Given the description of an element on the screen output the (x, y) to click on. 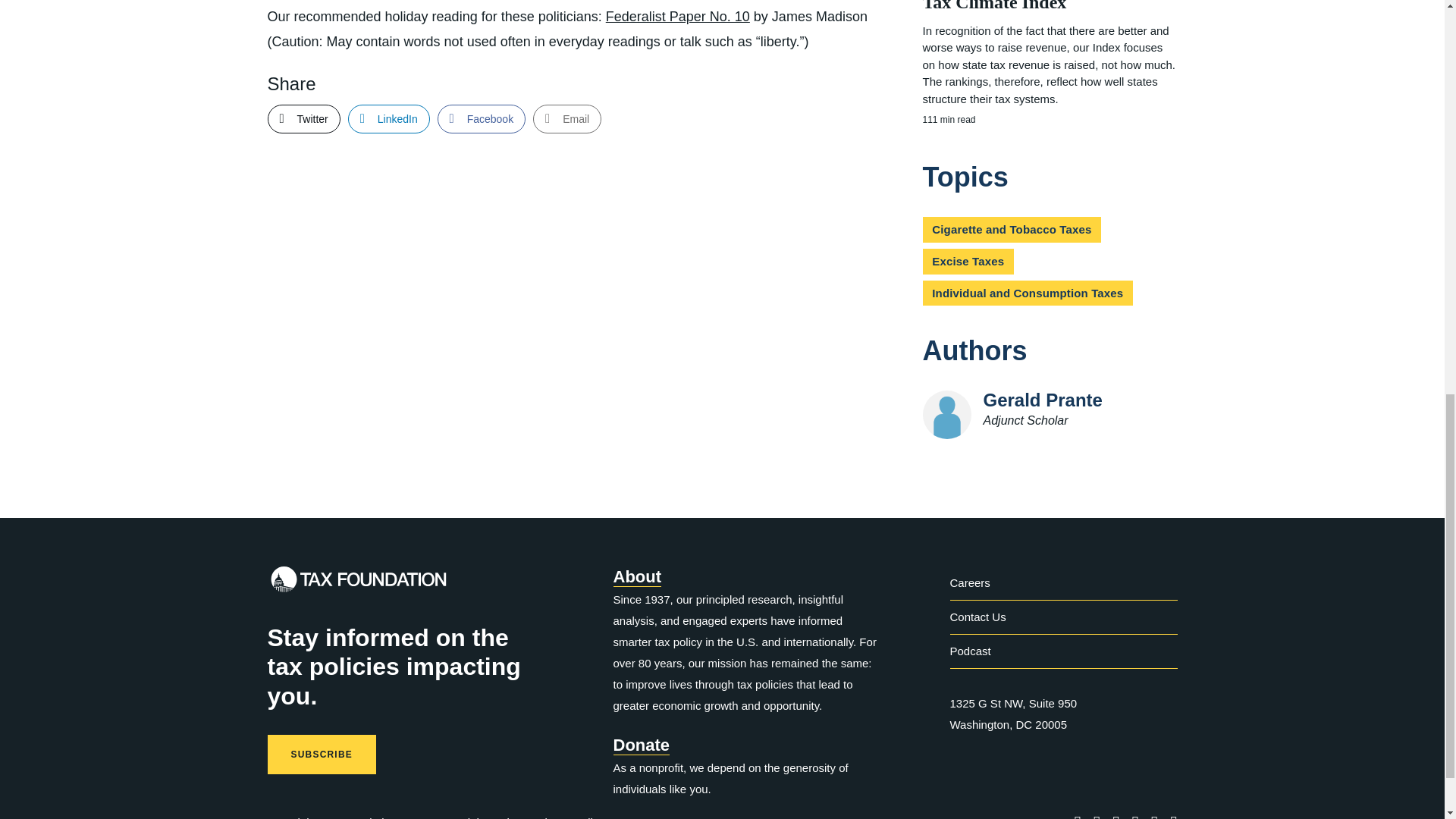
Link to Tax Foundation on Twitter (1096, 815)
Link to Tax Foundation on YouTube (1135, 815)
Link to Tax Foundation on LinkedIn (1115, 815)
Link to Tax Foundation on Podcast (1173, 815)
Link to Tax Foundation on Facebook (1077, 815)
Link to Tax Foundation on Instagram (1154, 815)
Tax Foundation (357, 582)
